Given the description of an element on the screen output the (x, y) to click on. 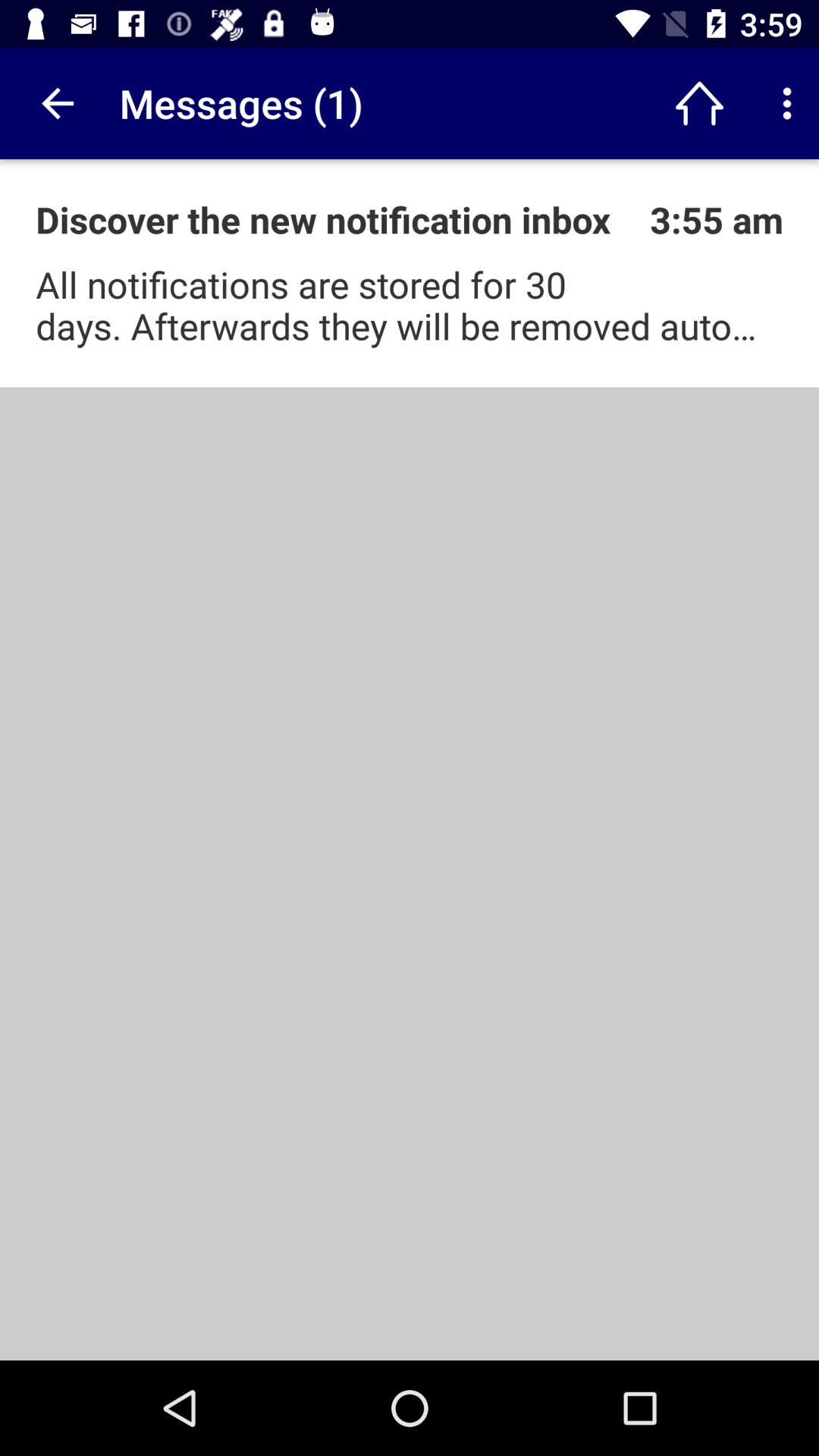
options for customization and control (787, 103)
